Given the description of an element on the screen output the (x, y) to click on. 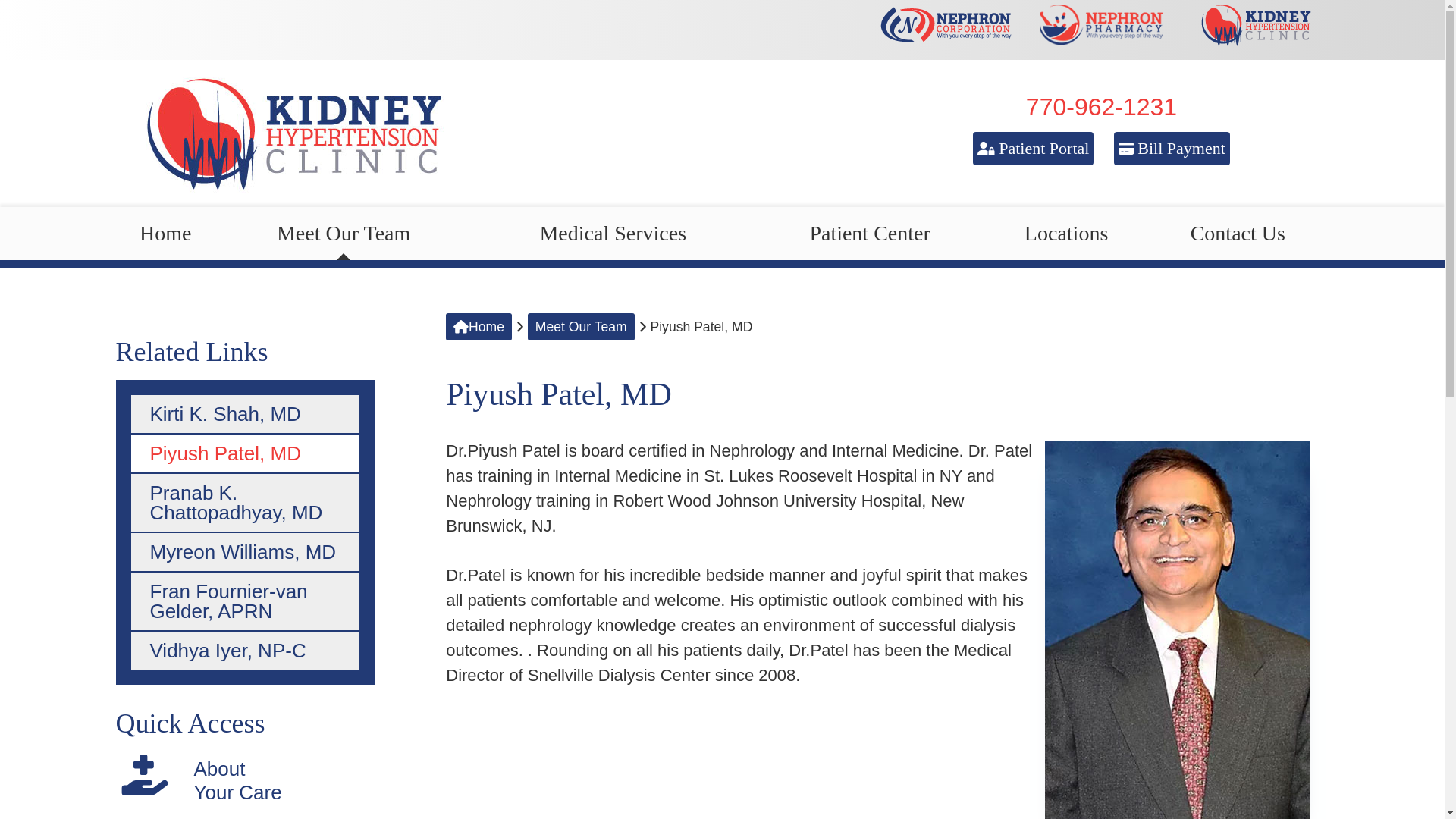
Patient Center (869, 233)
 Bill Payment (1171, 148)
770-962-1231 (1101, 106)
Contact Us (1237, 233)
Visit the website of Nephron Corporation (949, 29)
Home (164, 233)
Meet Our Team (343, 233)
Locations (1066, 233)
Medical Services (612, 233)
Visit the website of Nephron Pharmacy (1100, 29)
 Patient Portal (1032, 148)
